Given the description of an element on the screen output the (x, y) to click on. 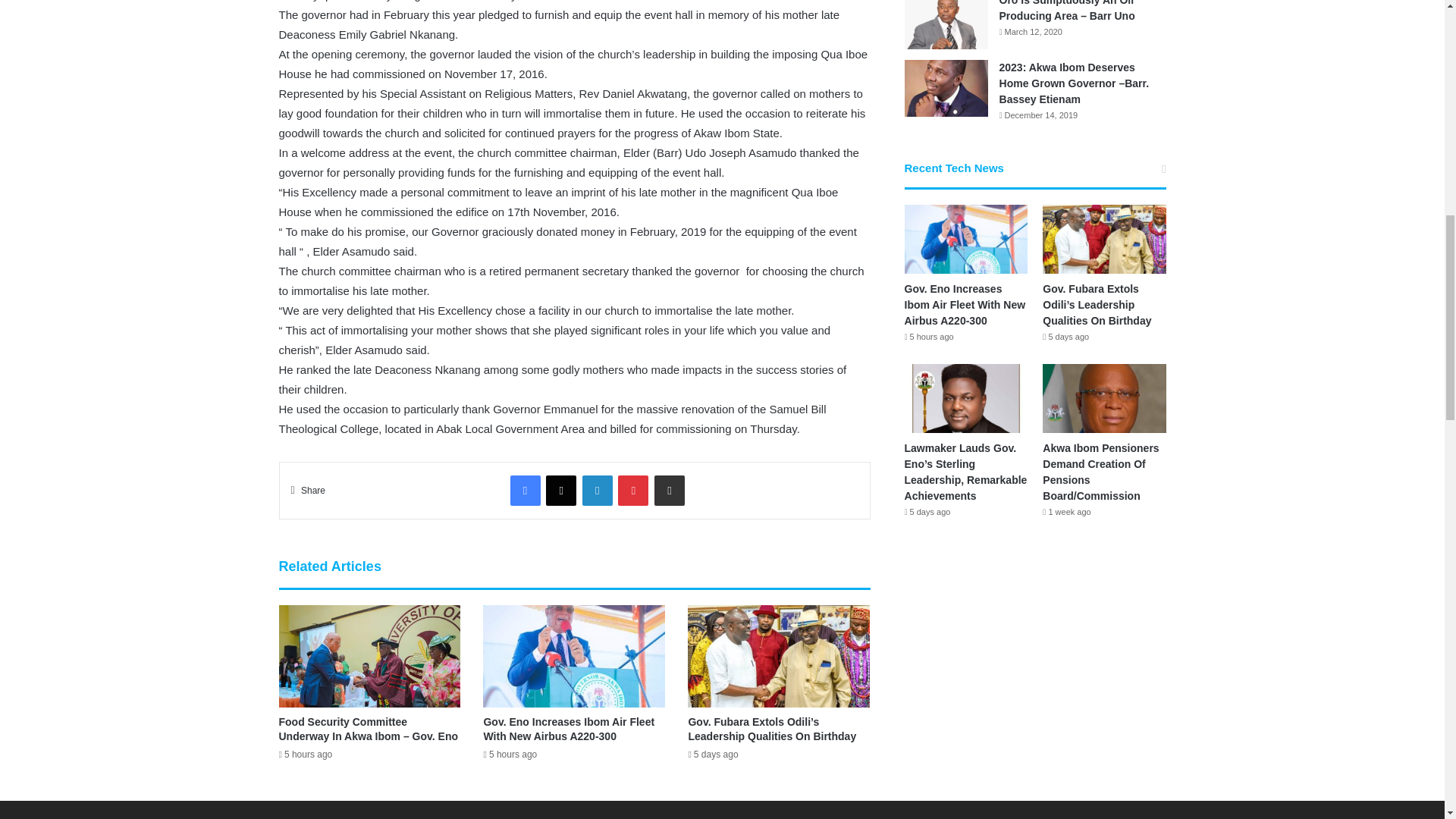
Facebook (524, 490)
Share via Email (668, 490)
Facebook (524, 490)
LinkedIn (597, 490)
Pinterest (632, 490)
X (561, 490)
Share via Email (668, 490)
Gov. Eno Increases Ibom Air Fleet With New Airbus A220-300 (568, 728)
X (561, 490)
LinkedIn (597, 490)
